Given the description of an element on the screen output the (x, y) to click on. 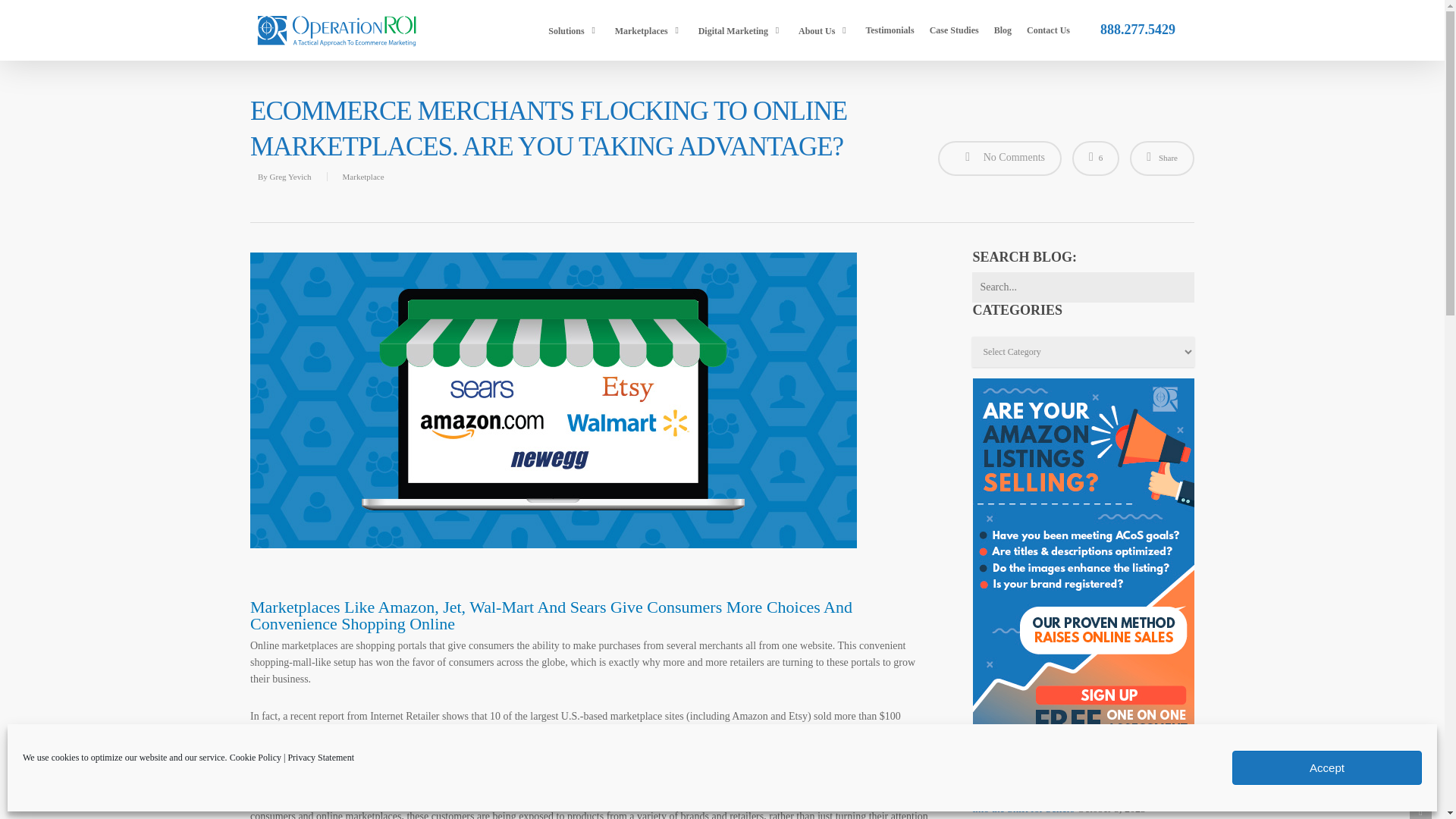
Posts by Greg Yevich (290, 175)
Accept (1326, 767)
Search for: (1082, 286)
Privacy Statement (319, 757)
Cookie Policy (255, 757)
Solutions (573, 30)
Digital Marketing (740, 30)
Love this (1095, 158)
Marketplaces (648, 30)
